Given the description of an element on the screen output the (x, y) to click on. 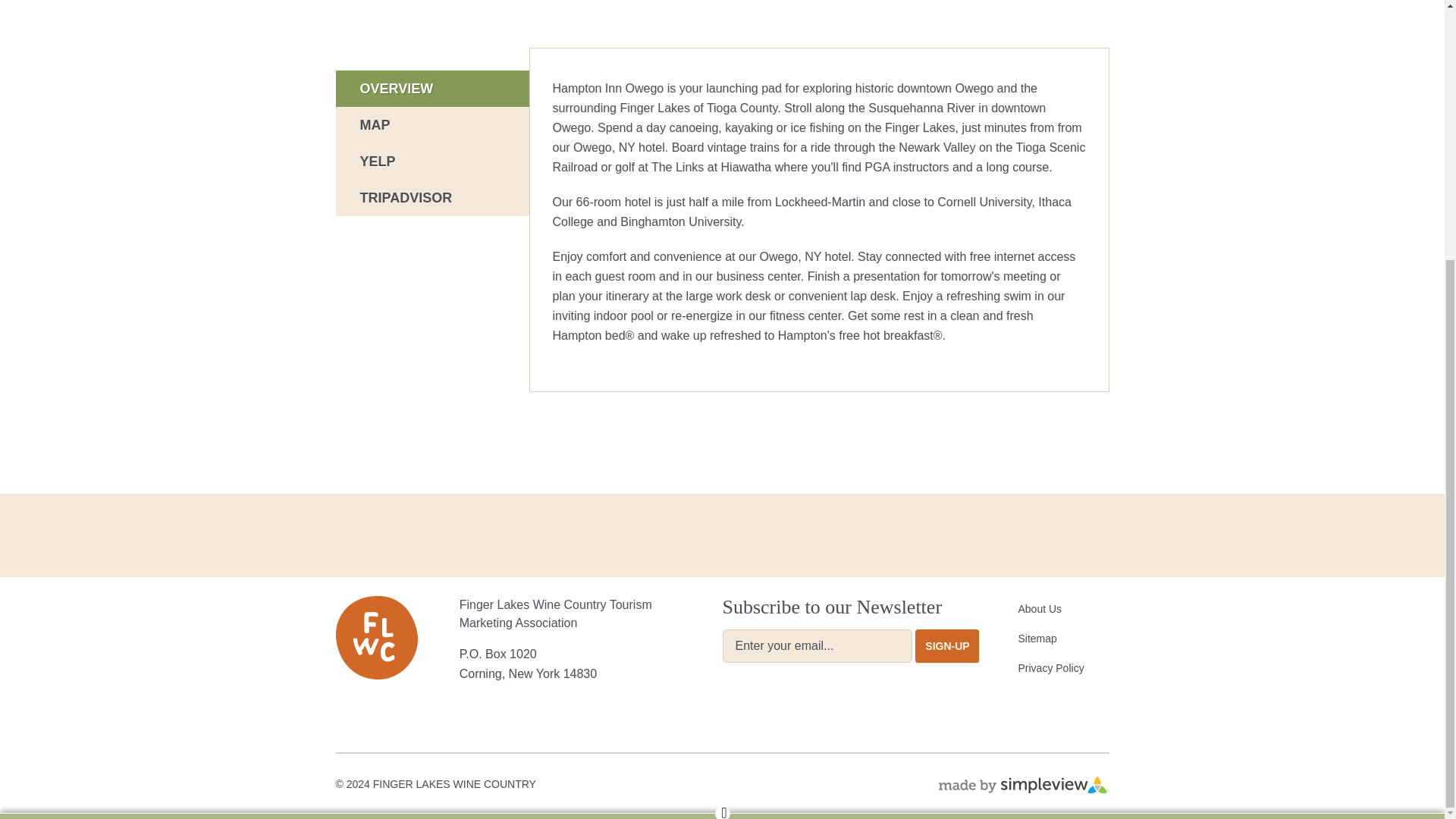
Details (431, 88)
Sign-up (947, 646)
Yelp (431, 161)
TripAdvisor (431, 197)
Map (431, 125)
